Given the description of an element on the screen output the (x, y) to click on. 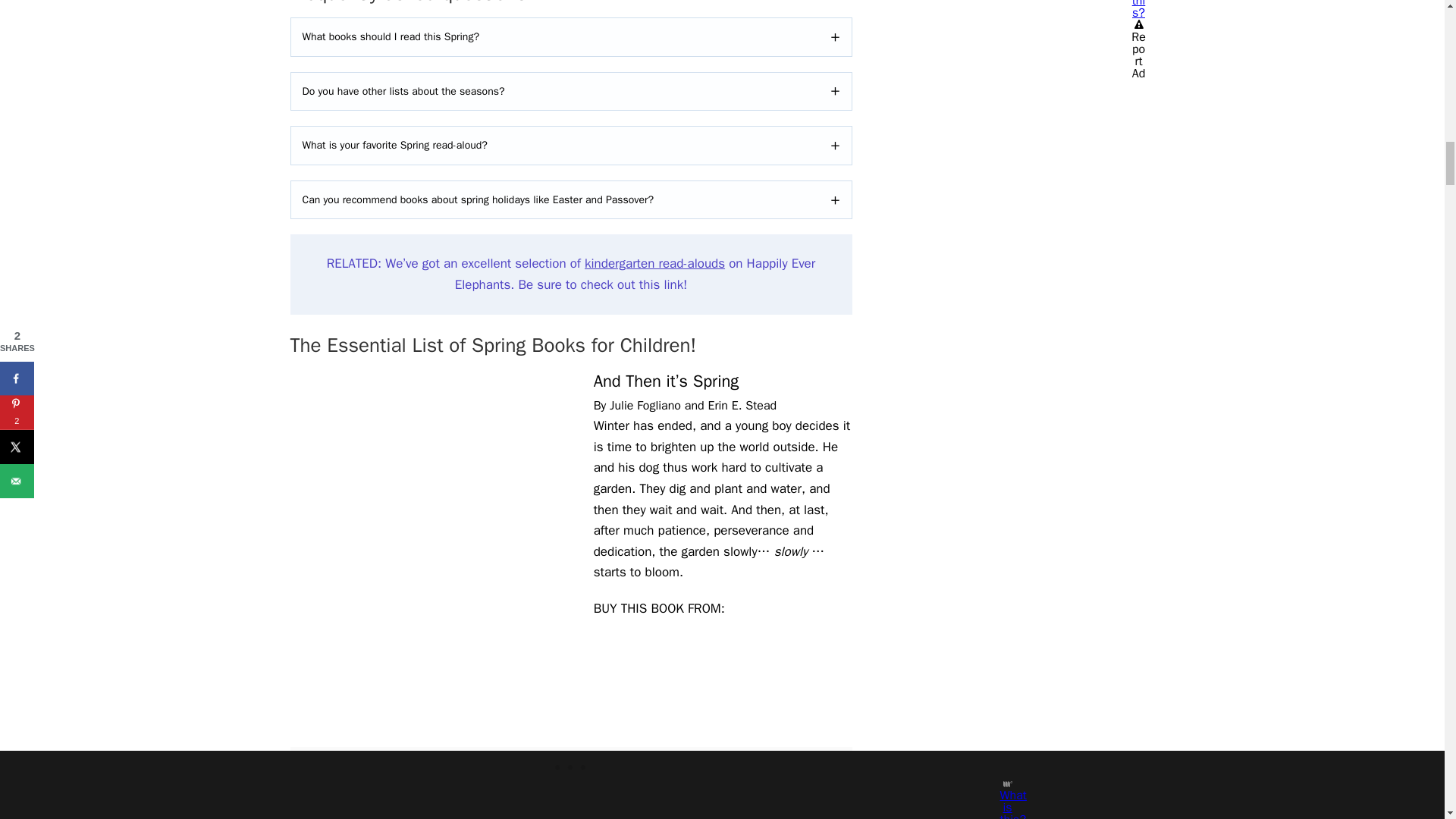
Frequently asked questions (570, 4)
3rd party ad content (571, 765)
